Given the description of an element on the screen output the (x, y) to click on. 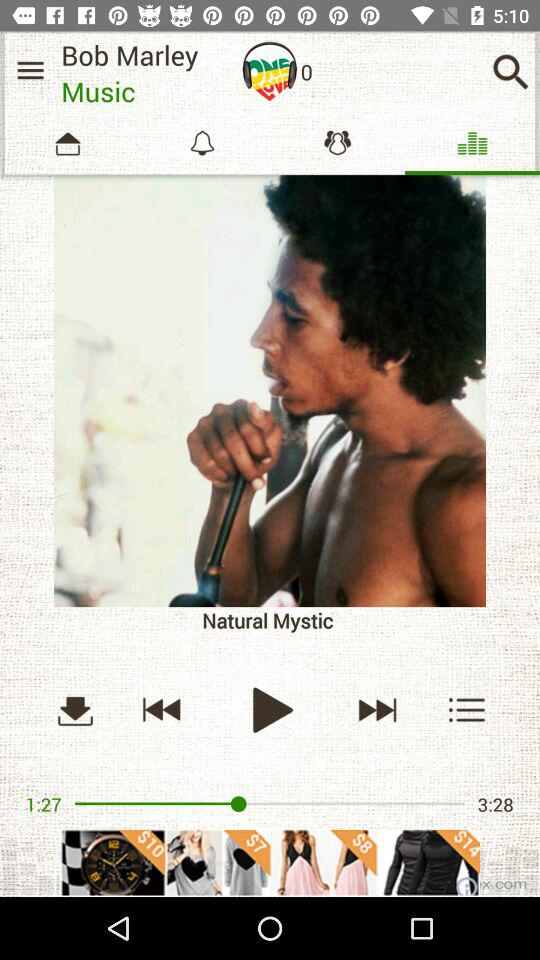
go to previous (162, 709)
